Given the description of an element on the screen output the (x, y) to click on. 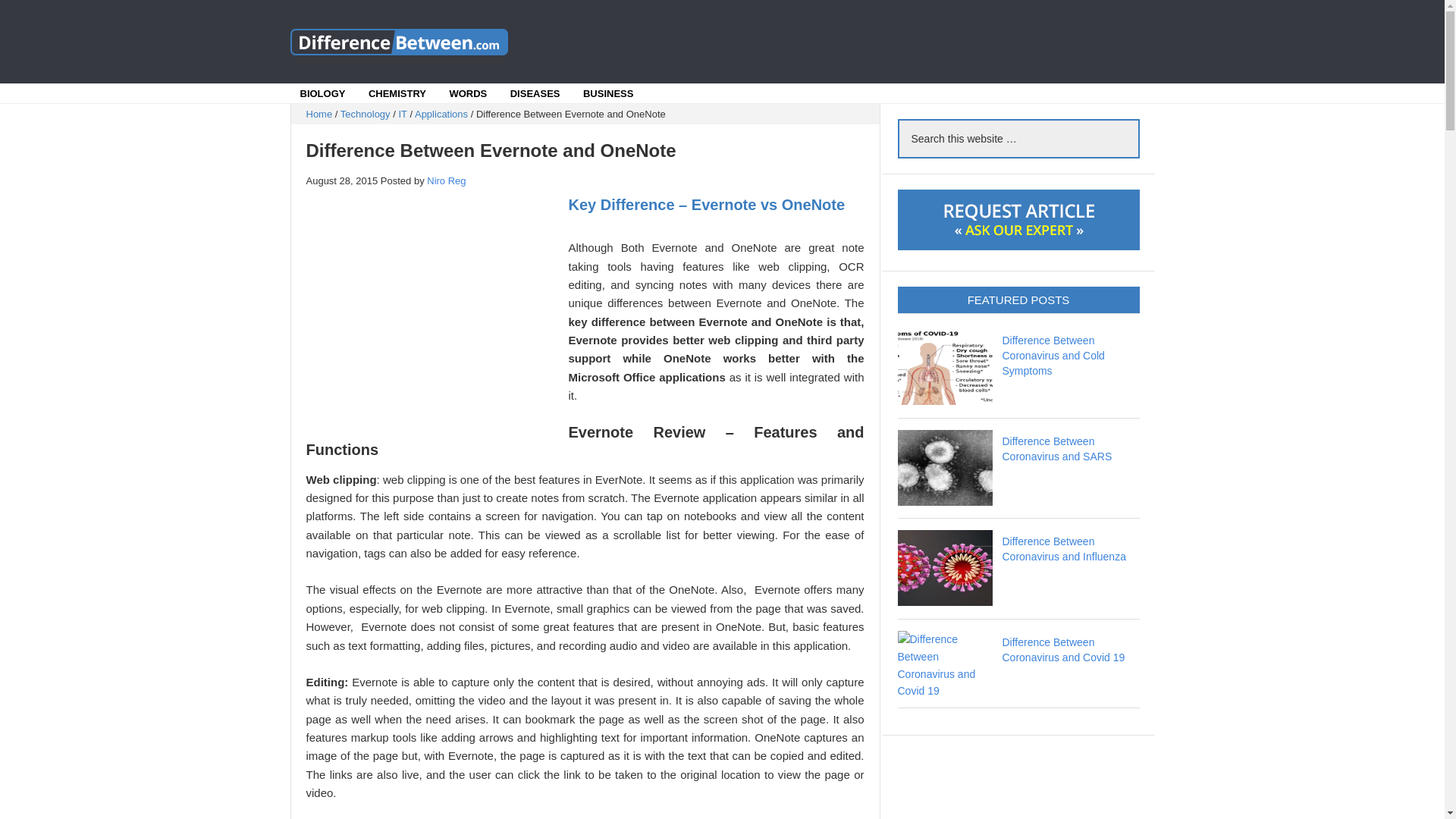
BIOLOGY (323, 93)
Applications (440, 113)
DISEASES (534, 93)
CHEMISTRY (397, 93)
BUSINESS (607, 93)
Technology (365, 113)
Home (319, 113)
WORDS (467, 93)
